Given the description of an element on the screen output the (x, y) to click on. 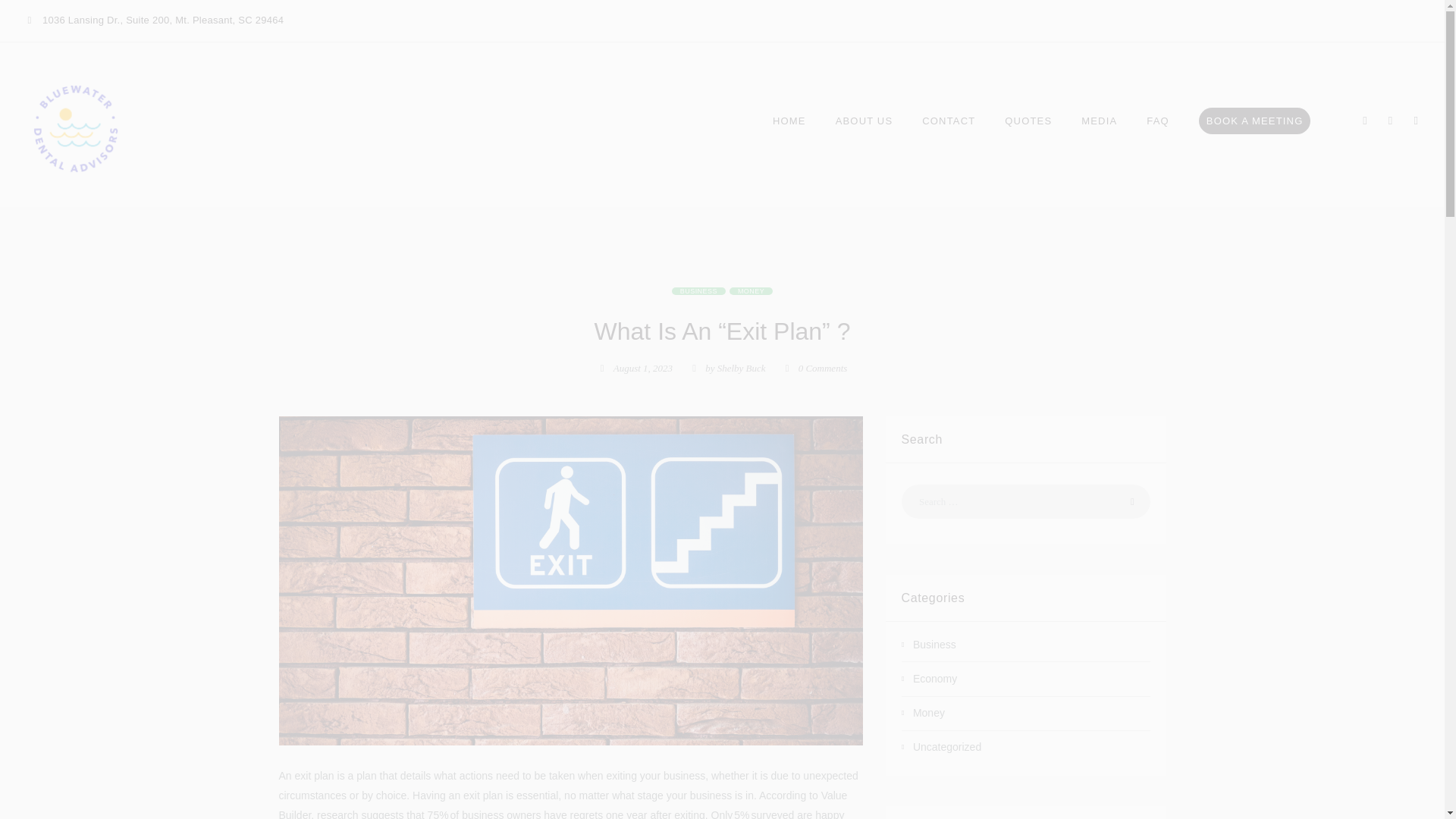
MONEY (751, 290)
ABOUT US (864, 120)
Comments - 0 (815, 367)
Shelby Buck (741, 367)
BUSINESS (698, 290)
Business (698, 290)
MEDIA (1099, 120)
CONTACT (948, 120)
FAQ (1158, 120)
0 Comments (815, 367)
